Given the description of an element on the screen output the (x, y) to click on. 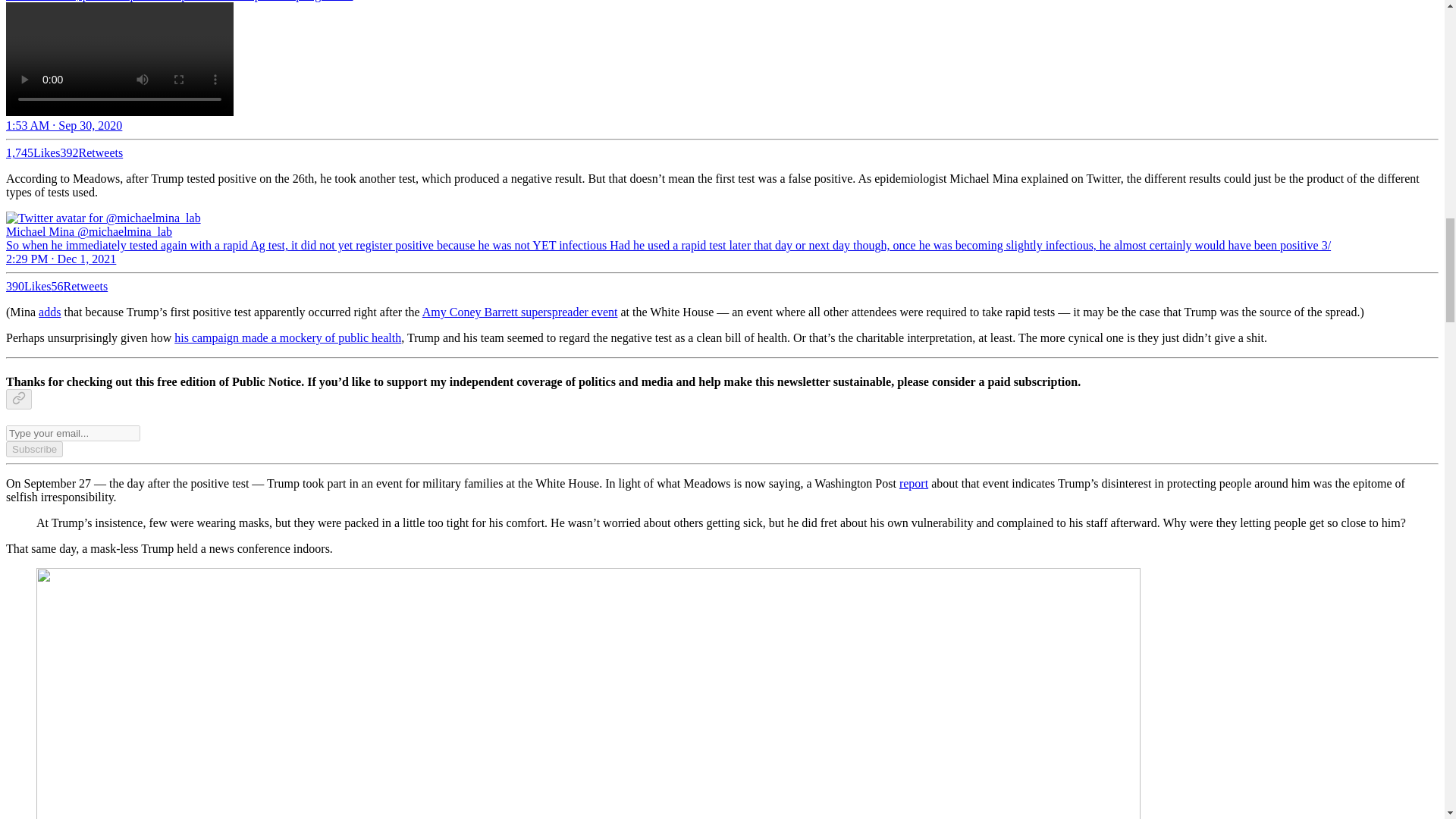
Amy Coney Barrett superspreader event (519, 311)
Subscribe (33, 449)
his campaign made a mockery of public health (287, 337)
report (913, 482)
adds (50, 311)
